Given the description of an element on the screen output the (x, y) to click on. 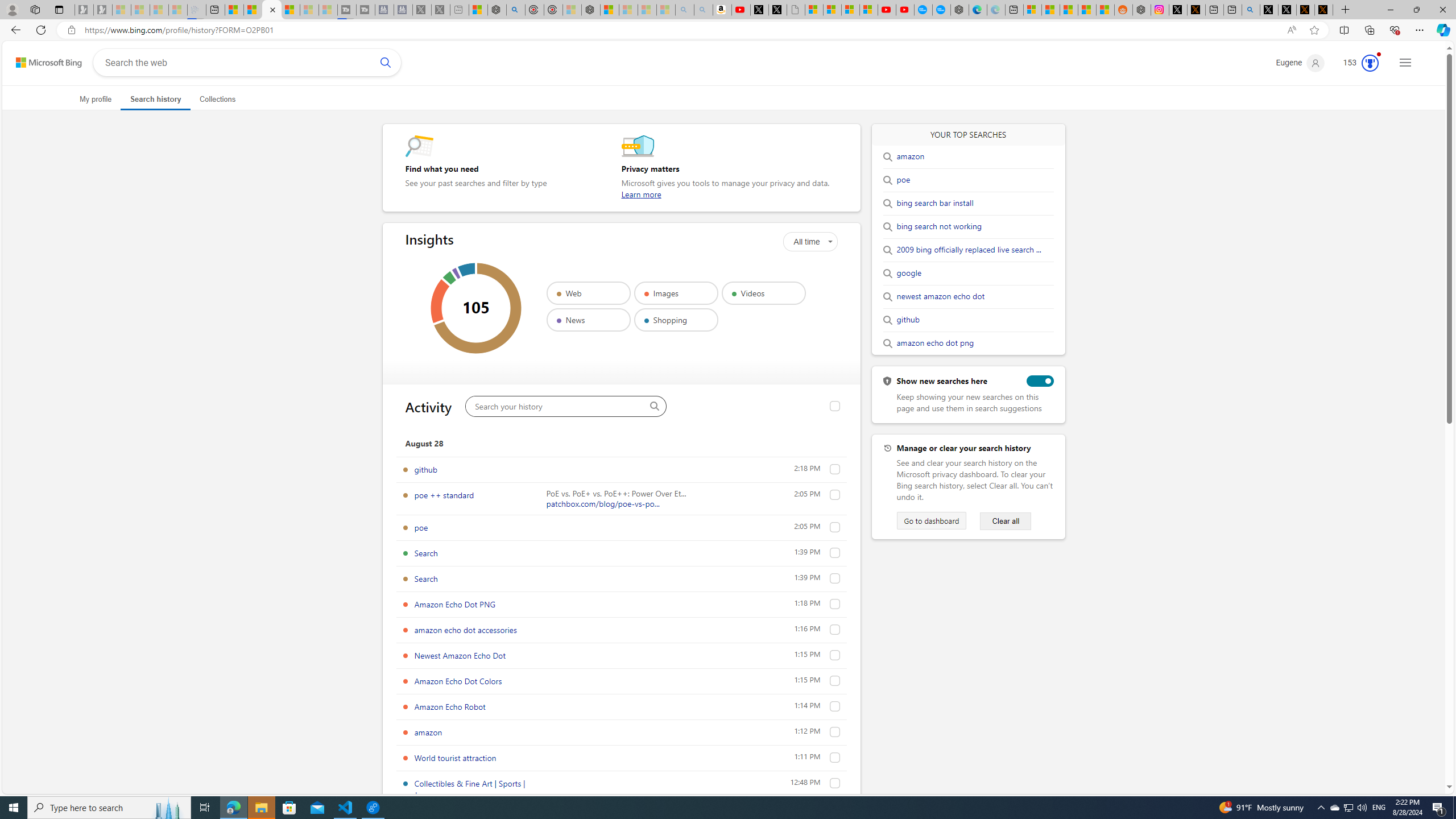
Shanghai, China Weather trends | Microsoft Weather (1105, 9)
Search your history (556, 406)
amazon echo dot accessories (464, 629)
Select all searches in this page (834, 405)
Amazon Echo Robot (834, 706)
amazon echo dot png (935, 343)
Collectibles & Fine Art | Sports | Jerseys (834, 782)
Back to Bing search (41, 60)
Newest Amazon Echo Dot (459, 655)
Web (588, 292)
Clear your search history (1005, 520)
Go to dashboard (931, 520)
